Given the description of an element on the screen output the (x, y) to click on. 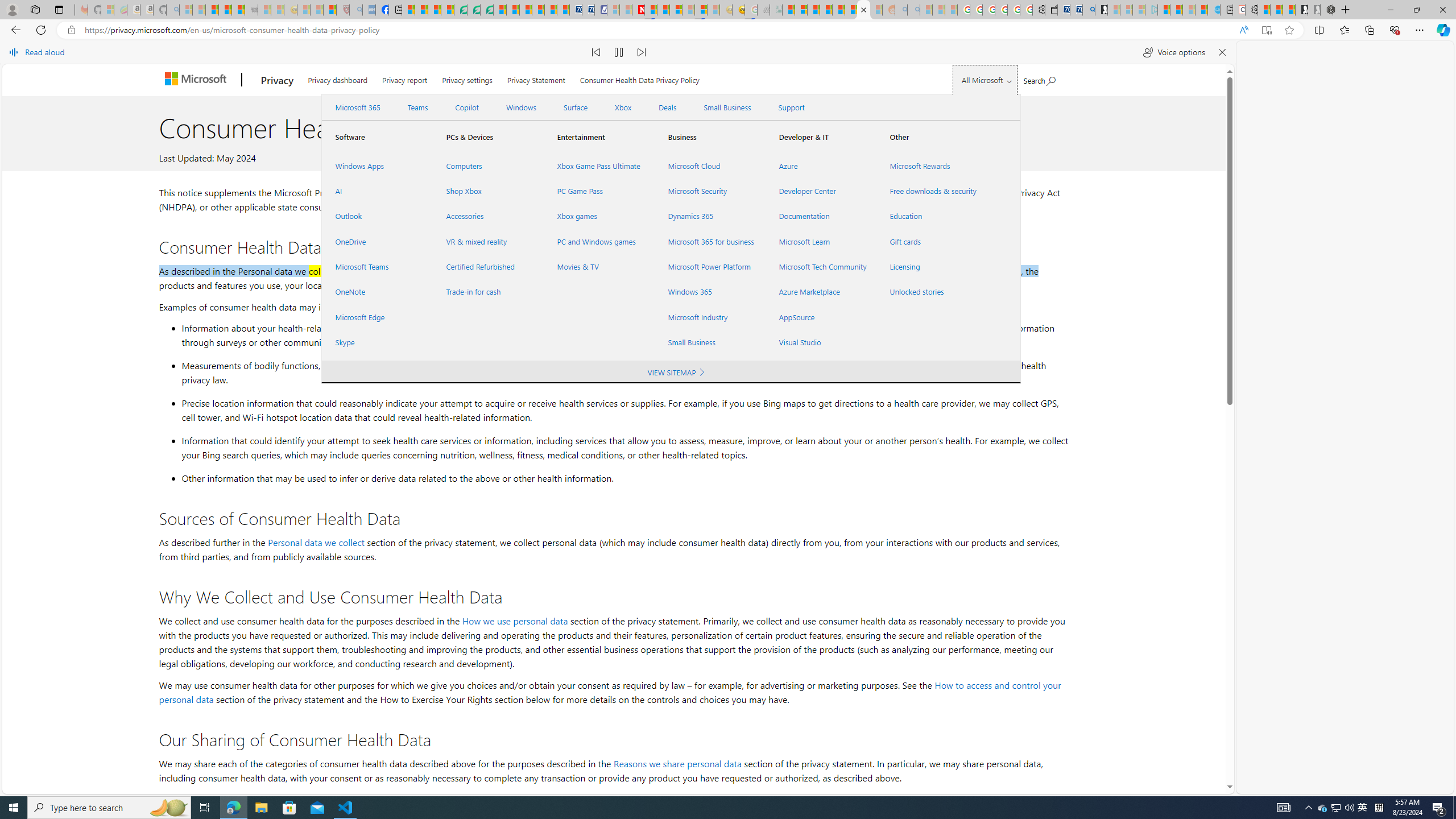
Bing Real Estate - Home sales and rental listings (1088, 9)
Windows 365 (709, 291)
Computers (487, 165)
Voice options (1174, 52)
Windows 365 (709, 291)
Windows (521, 107)
Licensing (931, 266)
